Given the description of an element on the screen output the (x, y) to click on. 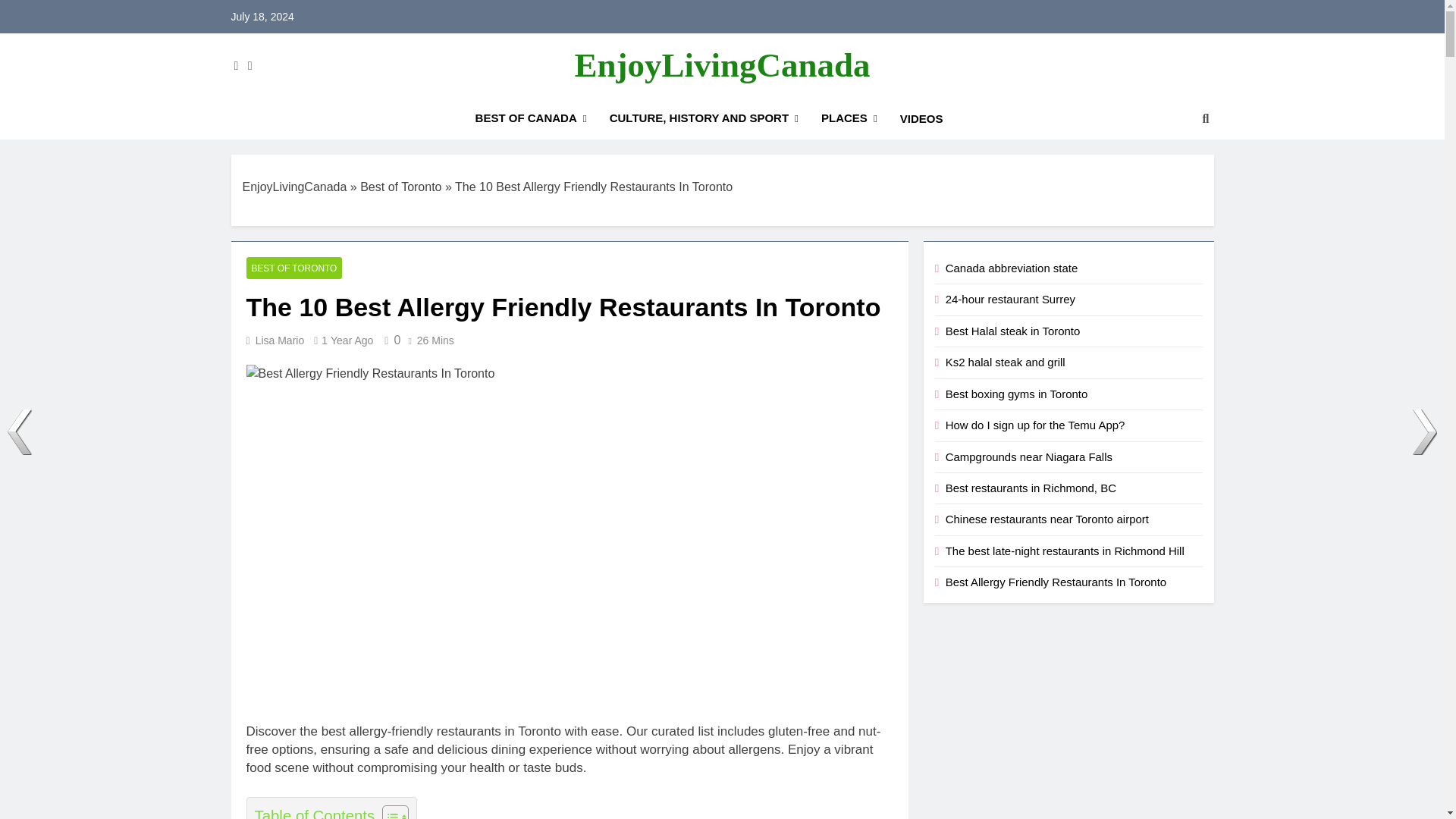
BEST OF CANADA (531, 118)
Best of Toronto (400, 186)
EnjoyLivingCanada (721, 64)
EnjoyLivingCanada (295, 186)
0 (389, 339)
PLACES (848, 118)
1 Year Ago (346, 340)
BEST OF TORONTO (294, 268)
Lisa Mario (280, 340)
CULTURE, HISTORY AND SPORT (703, 118)
VIDEOS (921, 118)
